Given the description of an element on the screen output the (x, y) to click on. 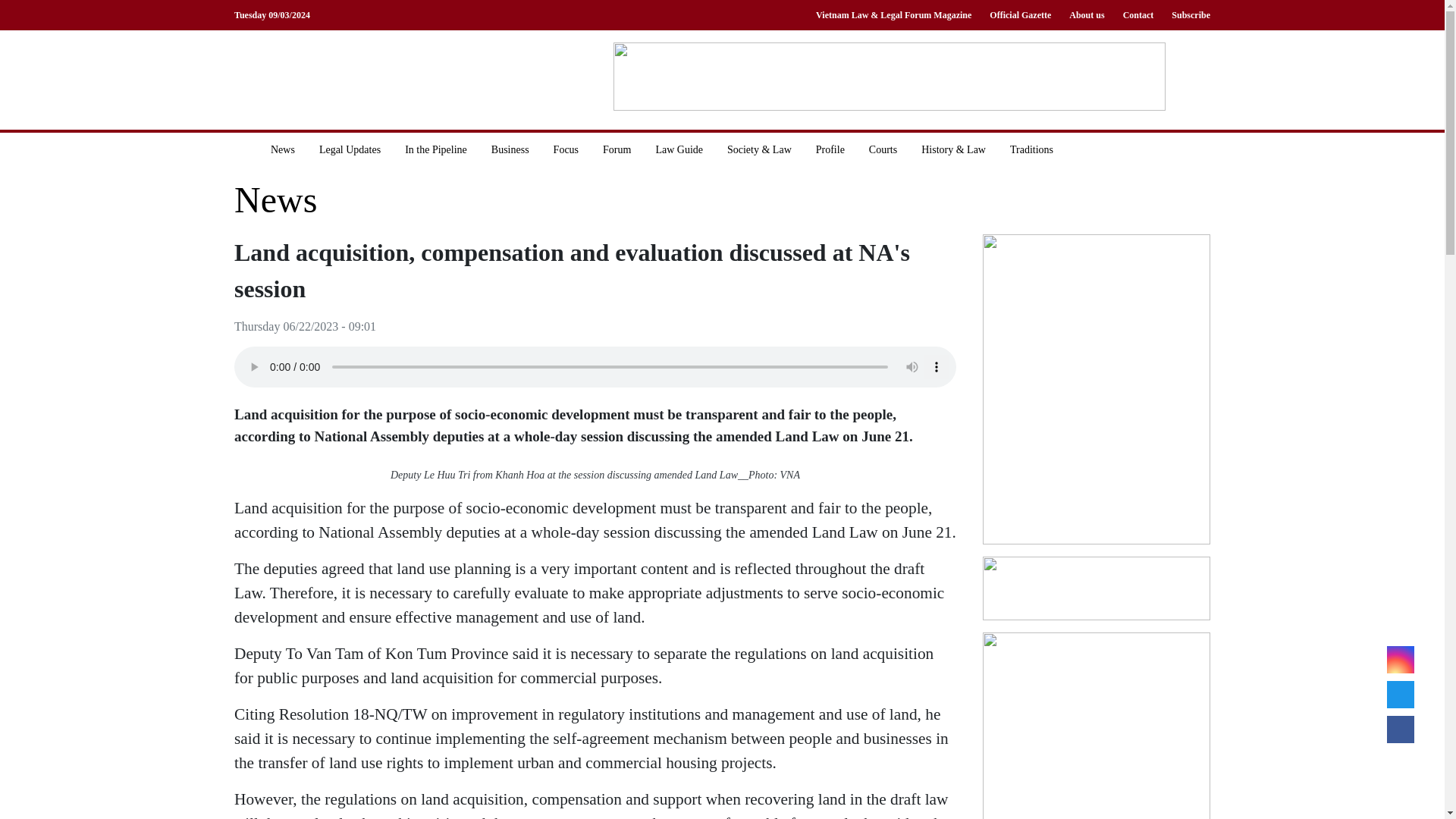
Subscribe (1185, 15)
Contact (1138, 15)
About us (1086, 15)
Traditions (1031, 149)
Profile (830, 149)
News (275, 200)
Legal Updates (350, 149)
Official Gazette (1019, 15)
News (283, 149)
Business (510, 149)
